Given the description of an element on the screen output the (x, y) to click on. 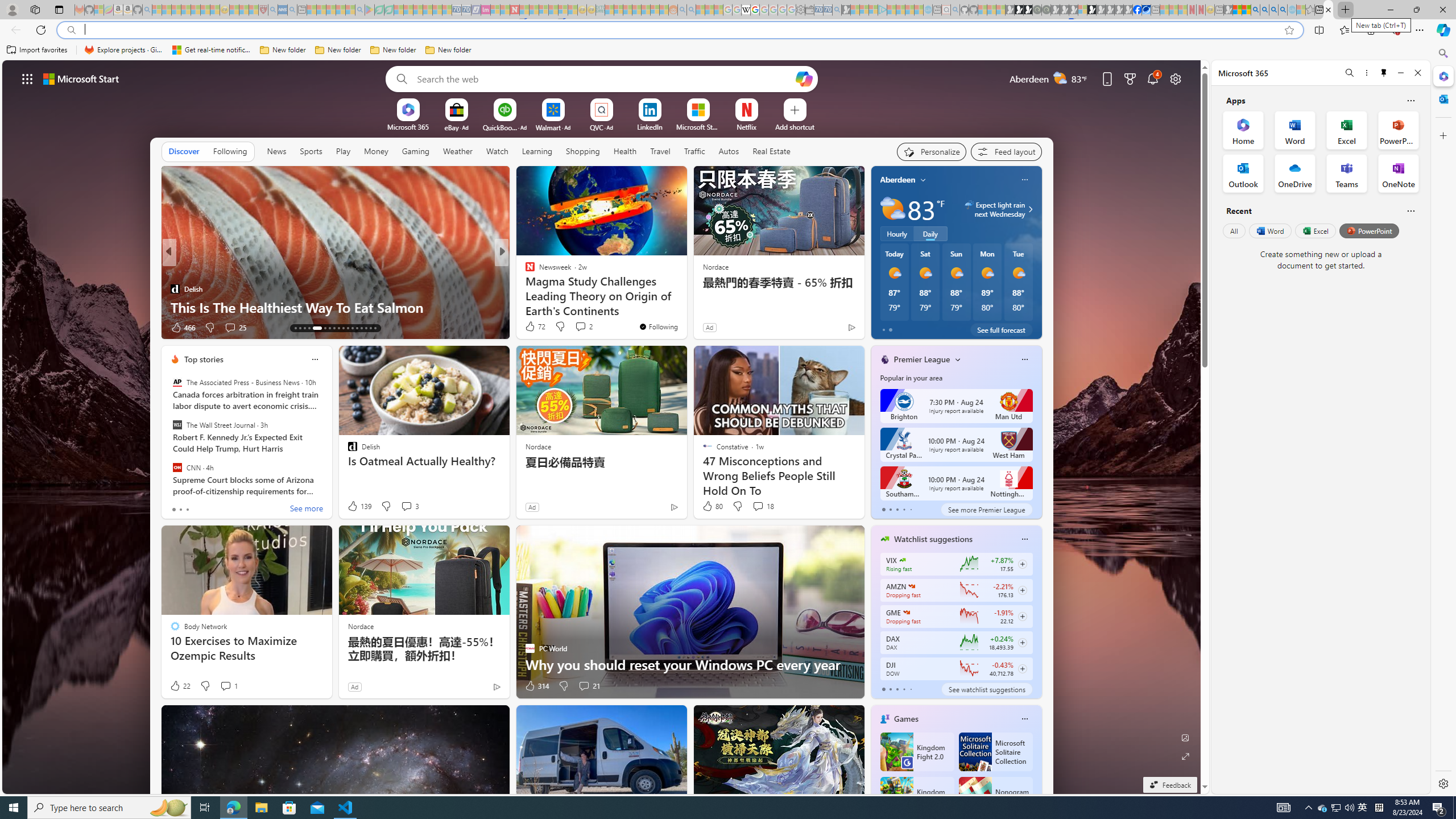
AutomationID: tab-24 (352, 328)
MSN - Sleeping (1227, 9)
5 Like (529, 327)
New Report Confirms 2023 Was Record Hot | Watch - Sleeping (195, 9)
Local - MSN - Sleeping (253, 9)
View comments 3 Comment (409, 505)
tab-0 (882, 689)
Expect light rain next Wednesday (1028, 208)
Bluey: Let's Play! - Apps on Google Play - Sleeping (369, 9)
